Given the description of an element on the screen output the (x, y) to click on. 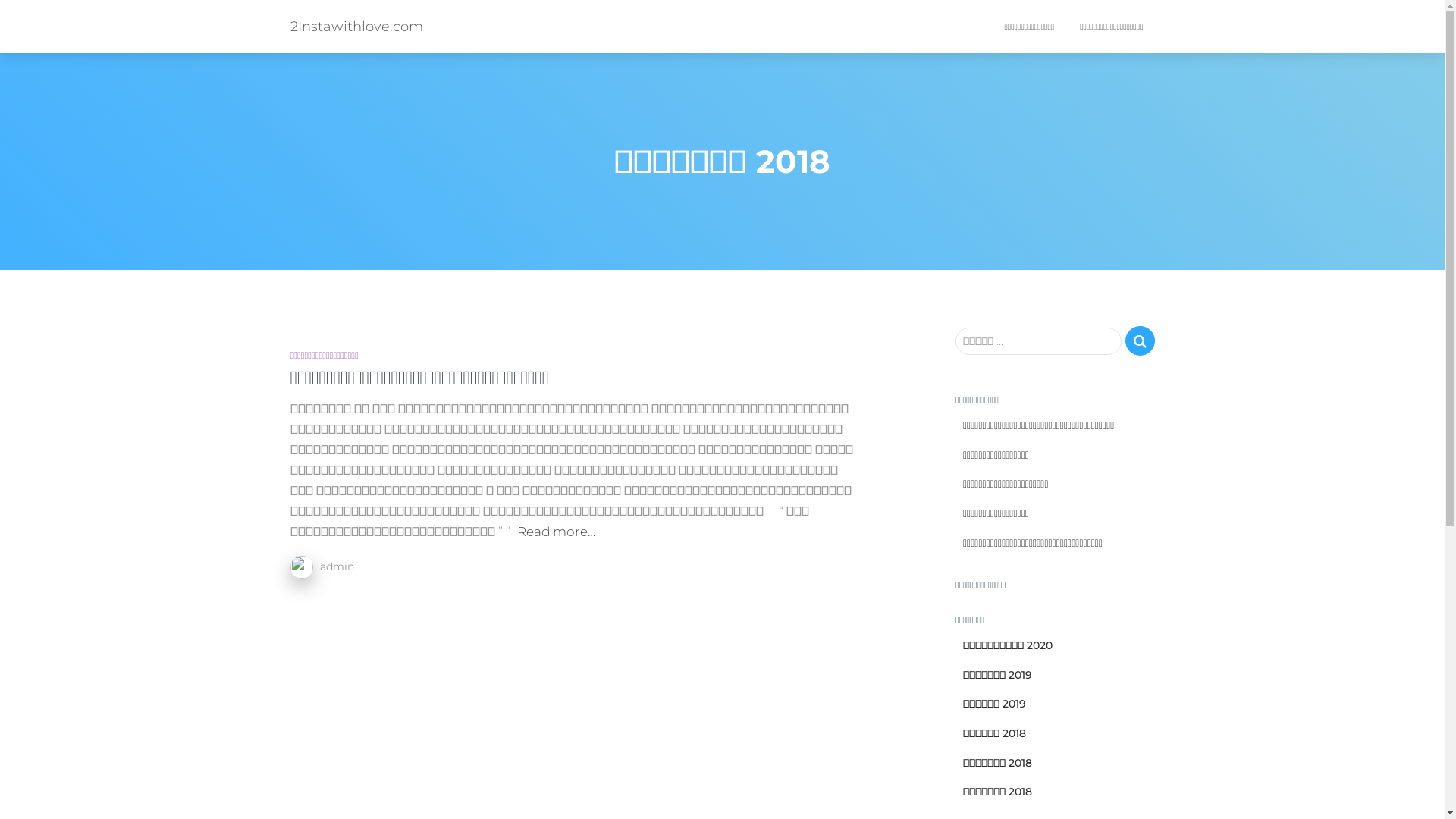
admin Element type: text (337, 566)
2Instawithlove.com Element type: text (355, 26)
